Given the description of an element on the screen output the (x, y) to click on. 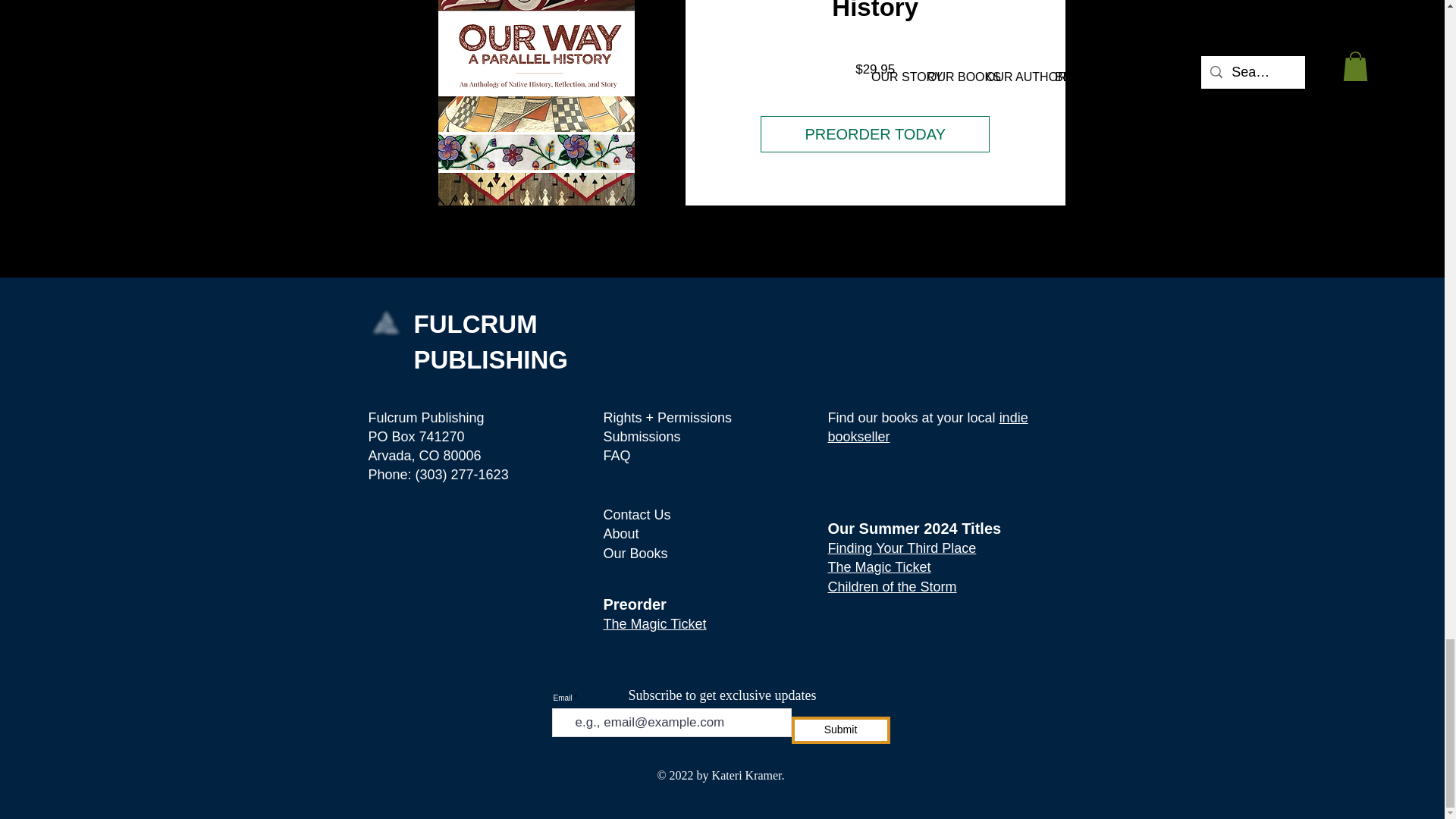
PREORDER TODAY (874, 134)
About (621, 533)
Find our books at your local indie bookseller (927, 427)
Contact Us (637, 514)
Submissions (642, 436)
FAQ (617, 455)
